Given the description of an element on the screen output the (x, y) to click on. 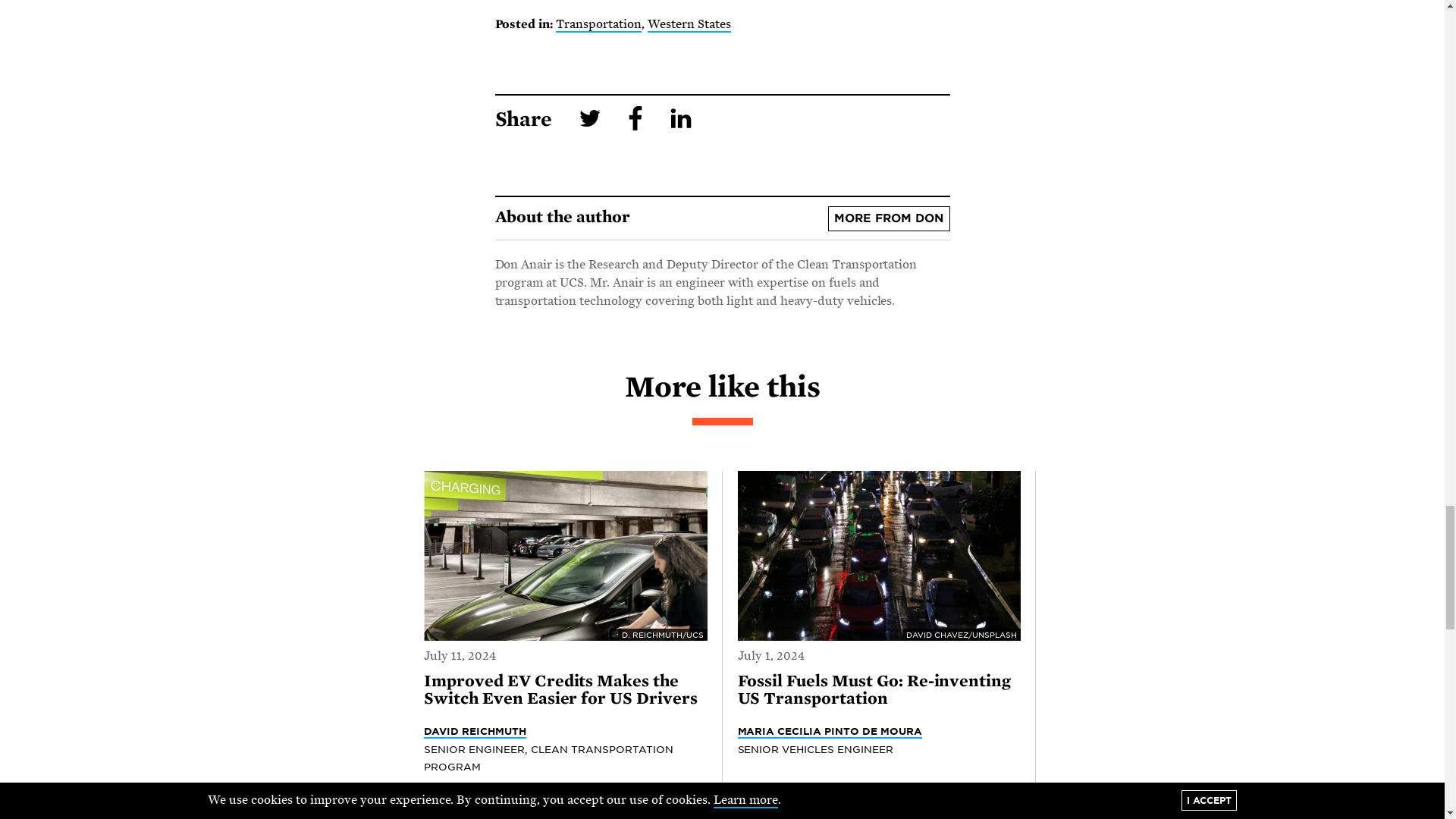
Transportation (599, 24)
Western States (688, 24)
DAVID REICHMUTH (474, 731)
Fossil Fuels Must Go: Re-inventing US Transportation (873, 690)
MARIA CECILIA PINTO DE MOURA (828, 731)
MORE FROM DON (889, 218)
